Given the description of an element on the screen output the (x, y) to click on. 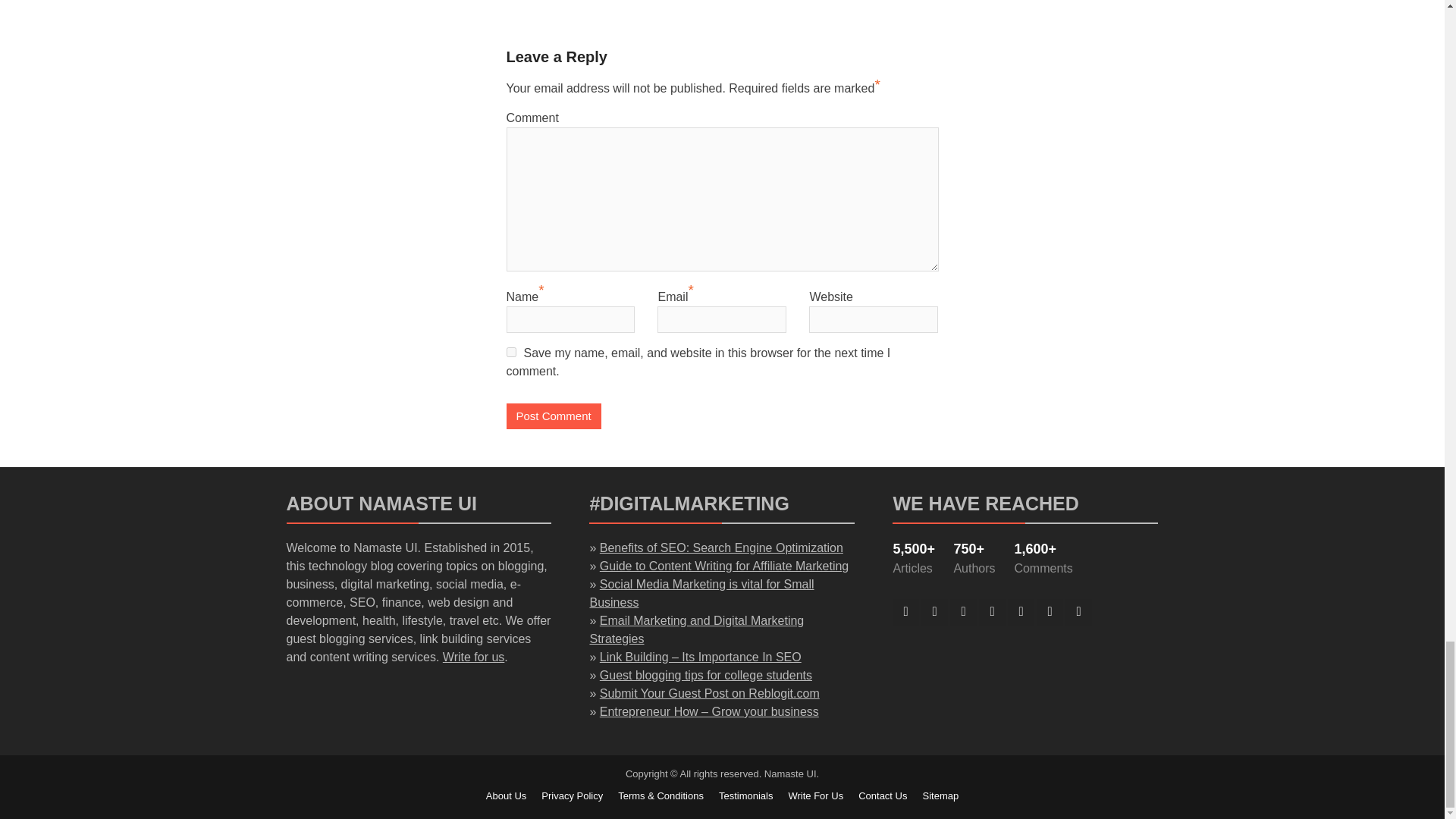
yes (511, 352)
Post Comment (553, 416)
